Given the description of an element on the screen output the (x, y) to click on. 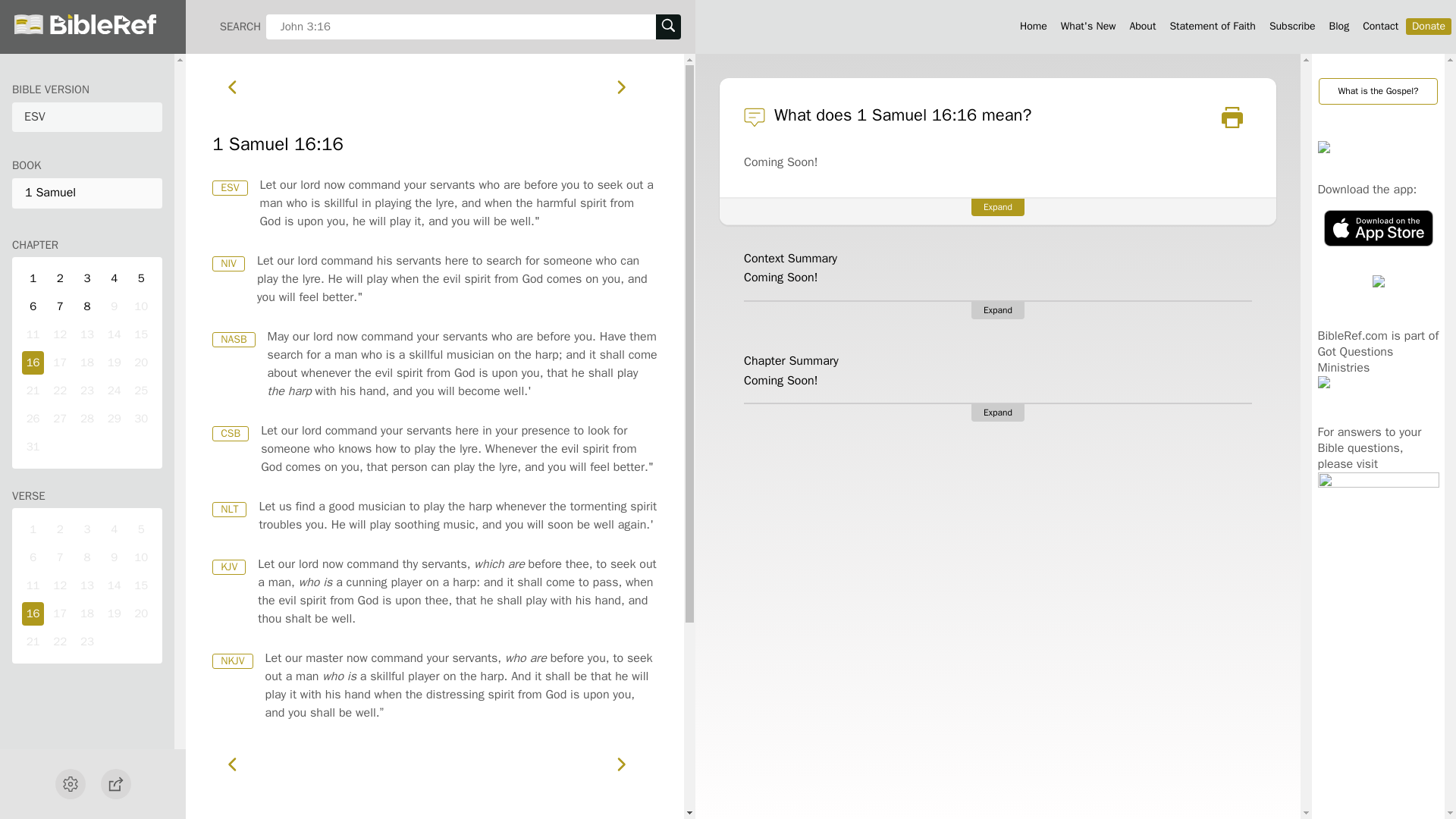
About BibleRef.com (1141, 26)
1 Samuel (86, 193)
BibleRef.com subscribe (1292, 26)
Latest commentary from BibleRef (1088, 26)
BibleRef homepage (1032, 26)
Contact (1380, 26)
Home (1032, 26)
Subscribe (1292, 26)
About (1141, 26)
BibleRef.com blog (1339, 26)
